Given the description of an element on the screen output the (x, y) to click on. 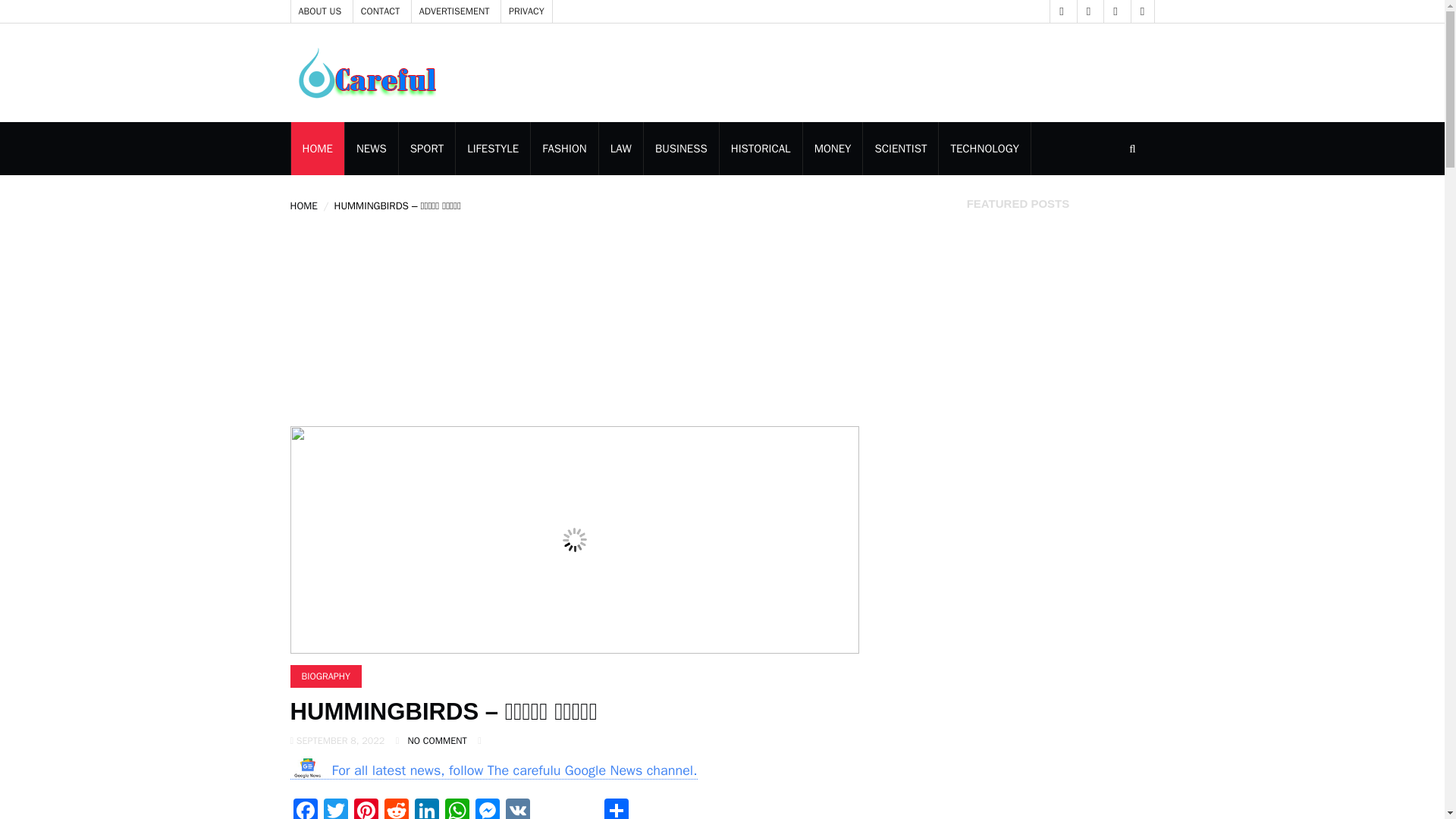
LIFESTYLE (492, 148)
SPORT (426, 148)
Advertisement (402, 319)
WhatsApp (456, 808)
Twitter (335, 808)
MONEY (833, 148)
Messenger (486, 808)
TECHNOLOGY (984, 148)
ABOUT US (320, 11)
CONTACT (380, 11)
PRIVACY (525, 11)
LinkedIn (425, 808)
VK (517, 808)
NO COMMENT (437, 740)
